Given the description of an element on the screen output the (x, y) to click on. 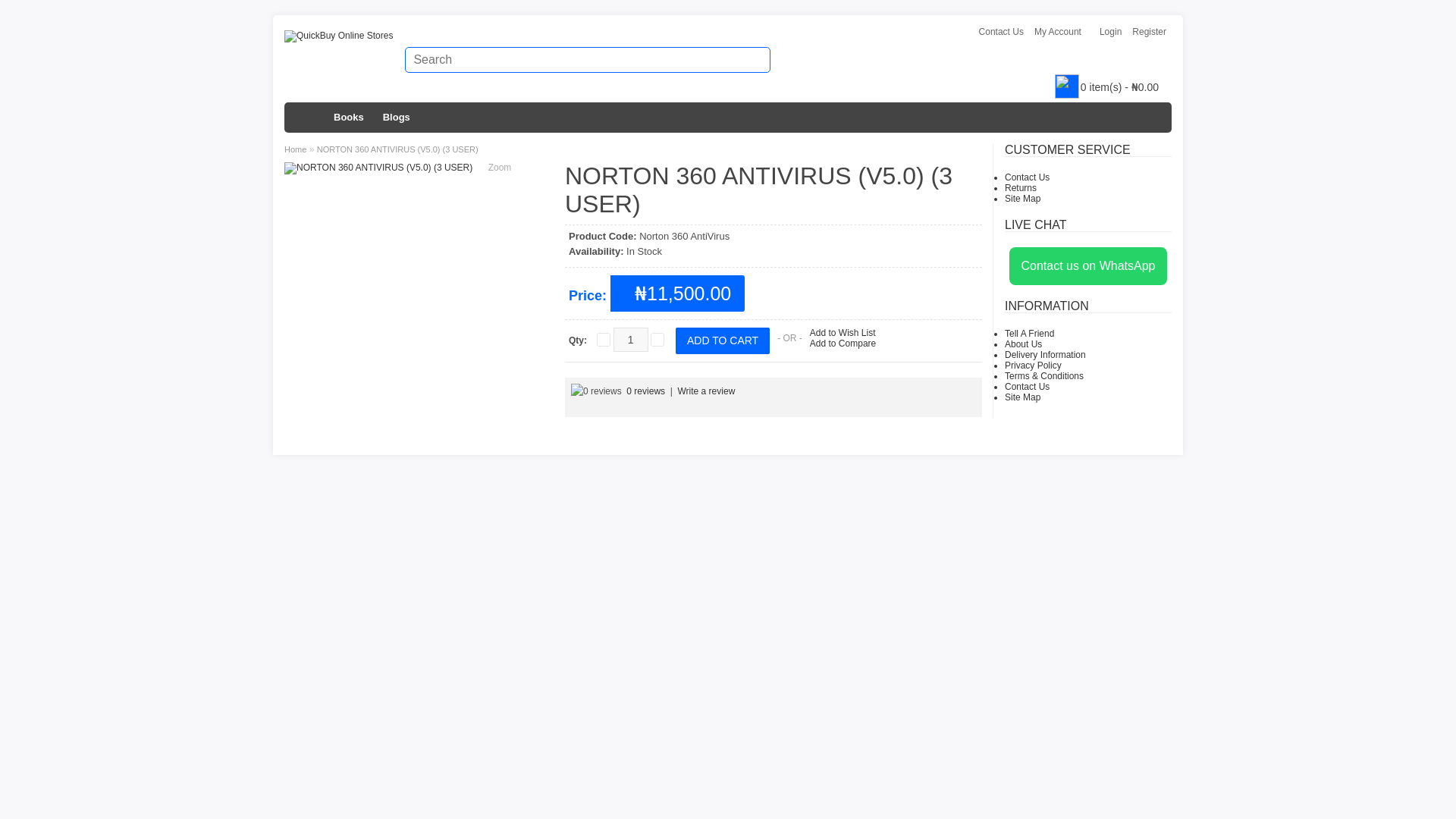
Login (1110, 31)
Home (306, 117)
Contact Us (1000, 31)
Home (306, 117)
1 (629, 339)
QuickBuy Online Stores (338, 36)
Add to Cart (722, 340)
Register (1149, 31)
Books (348, 117)
